Given the description of an element on the screen output the (x, y) to click on. 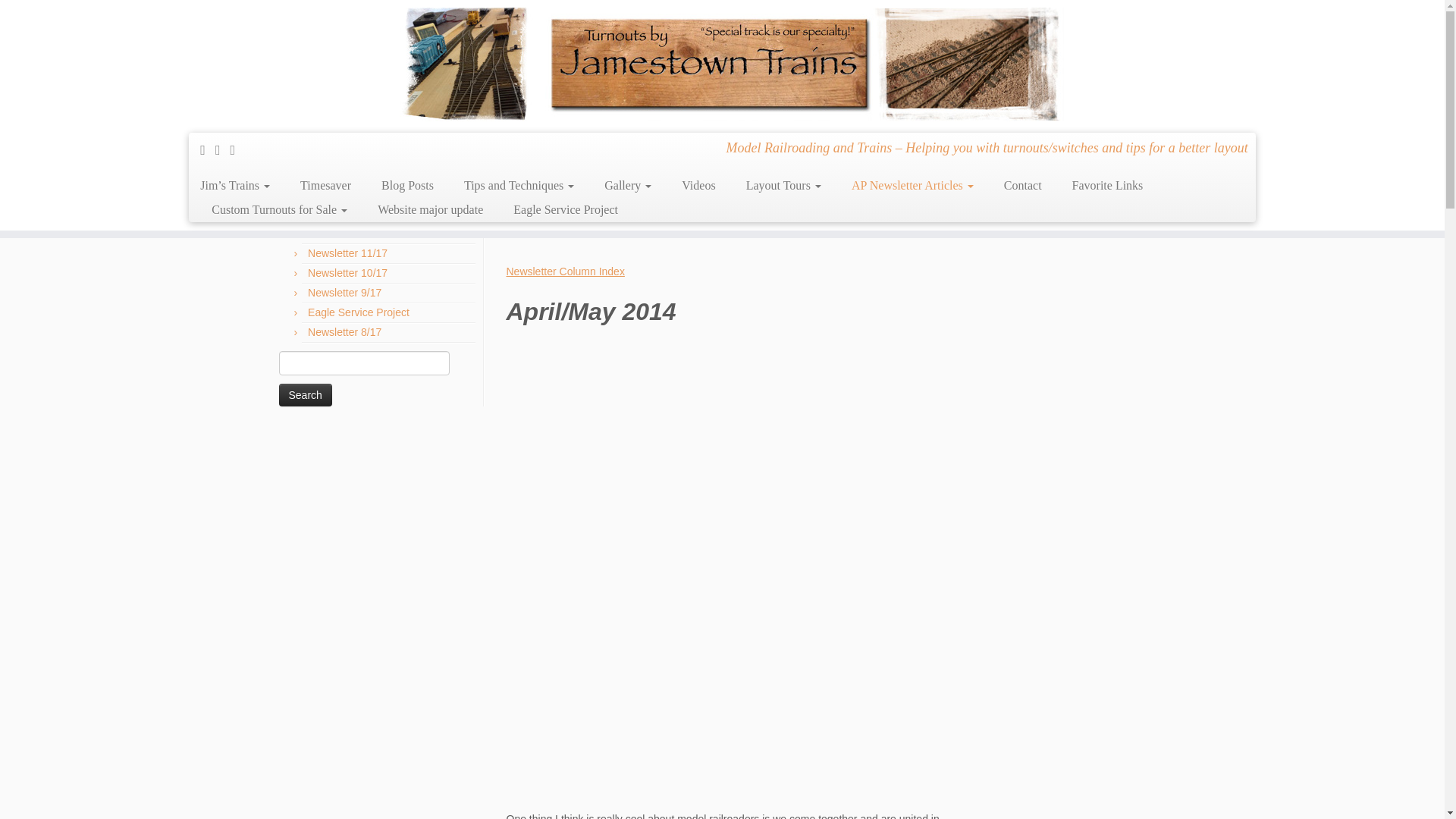
Tips and Techniques (518, 185)
View all posts in Promontory Post (606, 182)
View all posts in AP (681, 182)
Jamestown Trains (293, 105)
E-mail (222, 150)
Search (305, 395)
View all posts in Newsletter (715, 182)
Promontory Post (357, 105)
Timesaver (325, 185)
Subscribe to my rss feed (207, 150)
Blog Posts (407, 185)
6:24 pm (531, 182)
View all posts by admin (763, 182)
Follow me on Facebook (238, 150)
